Given the description of an element on the screen output the (x, y) to click on. 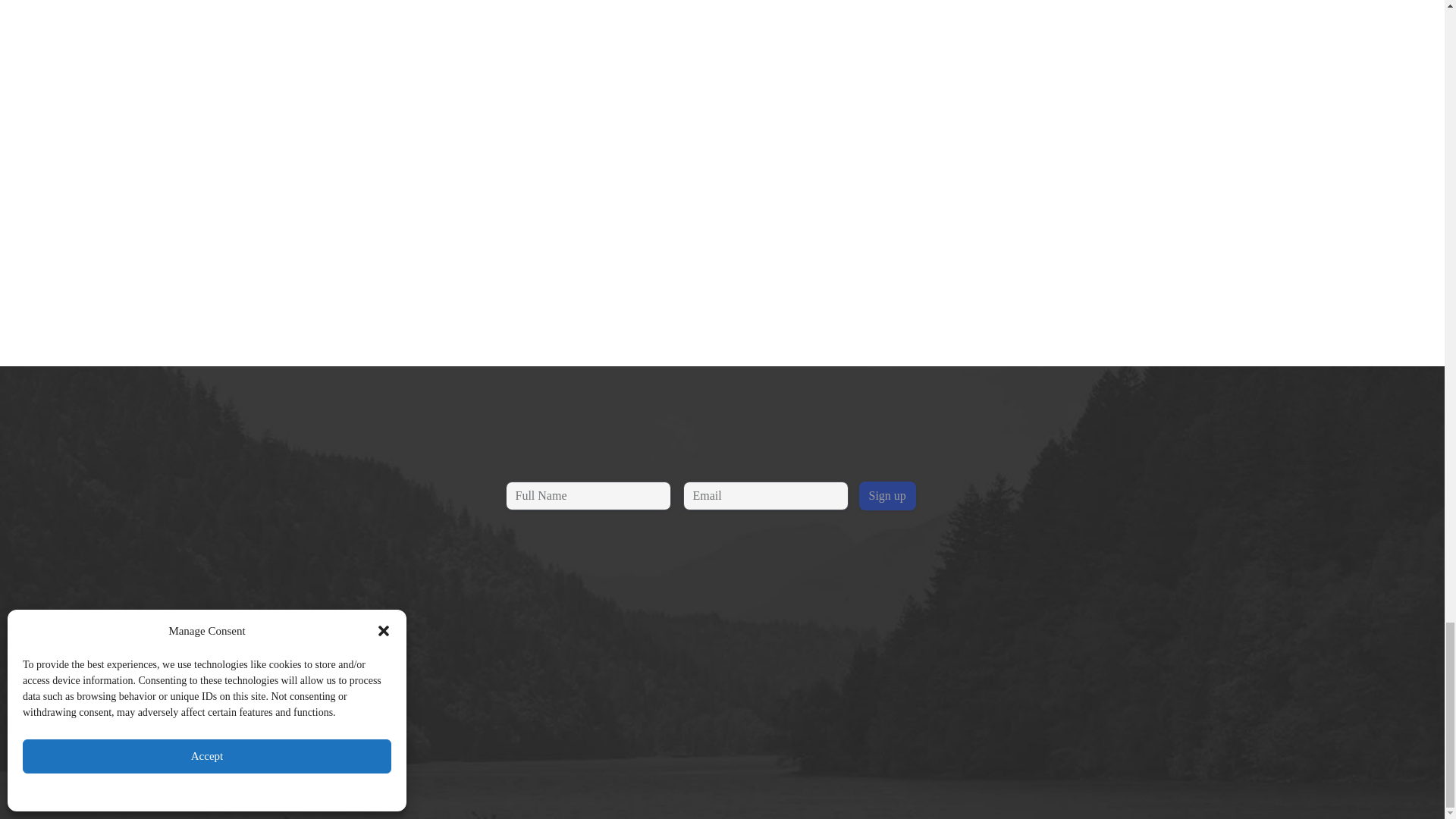
Sign up (887, 495)
